Given the description of an element on the screen output the (x, y) to click on. 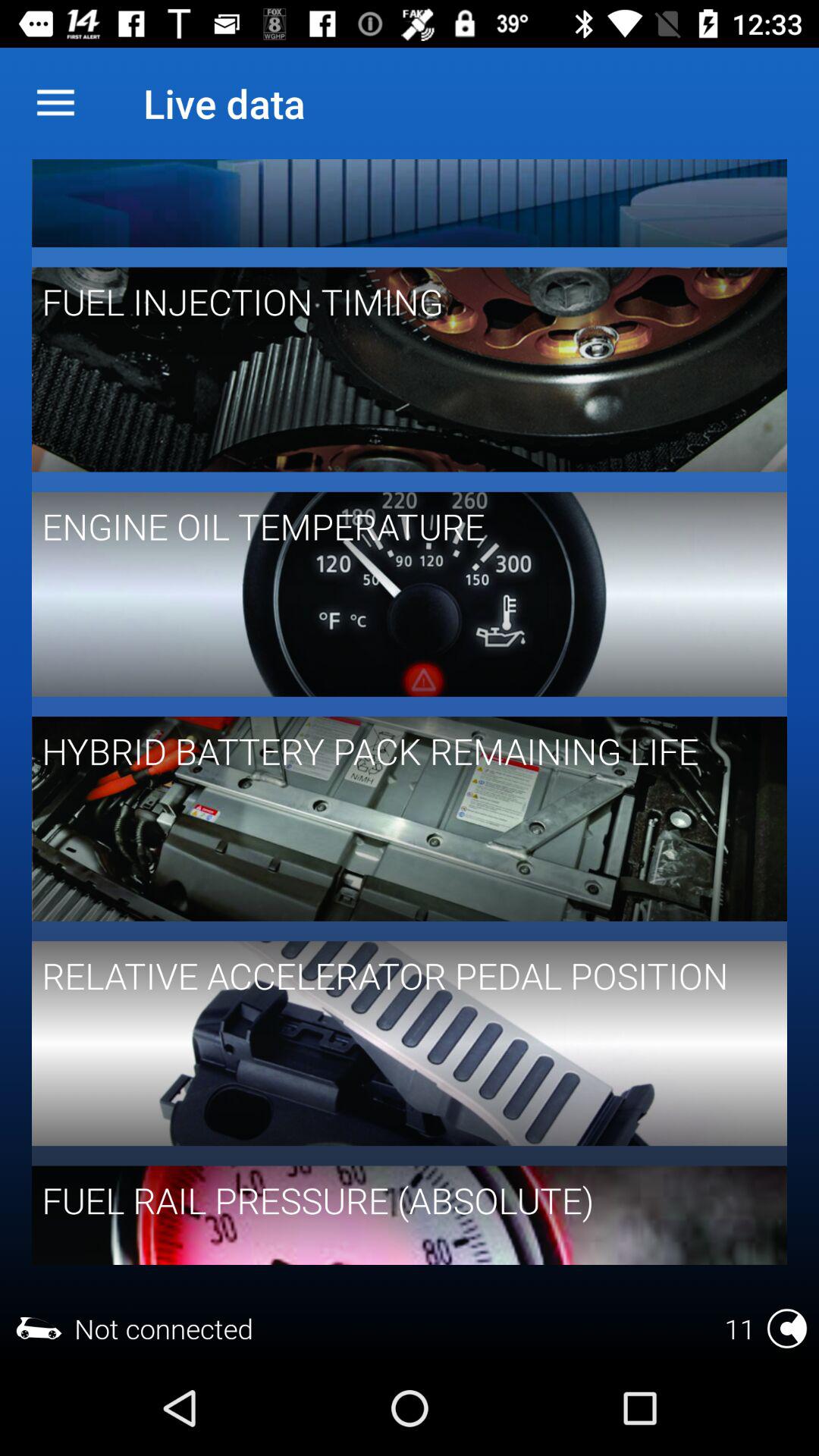
choose relative accelerator pedal icon (398, 975)
